Given the description of an element on the screen output the (x, y) to click on. 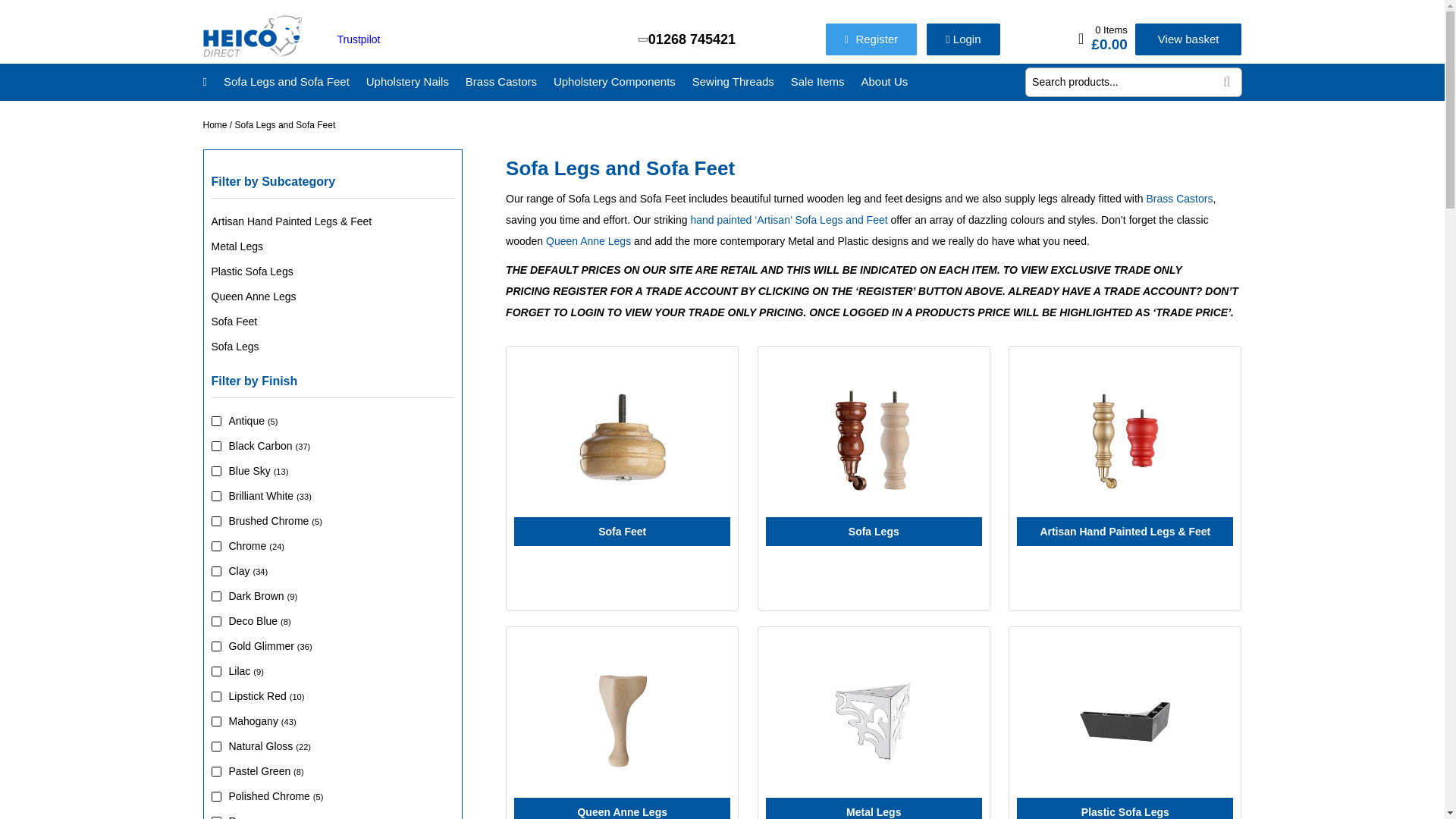
Register (871, 39)
Upholstery Components (614, 81)
Sofa Legs and Sofa Feet (286, 81)
Trustpilot (358, 39)
View basket (1188, 39)
Brass Castors (501, 81)
01268 745421 (687, 38)
Login (962, 39)
Upholstery Nails (407, 81)
